Given the description of an element on the screen output the (x, y) to click on. 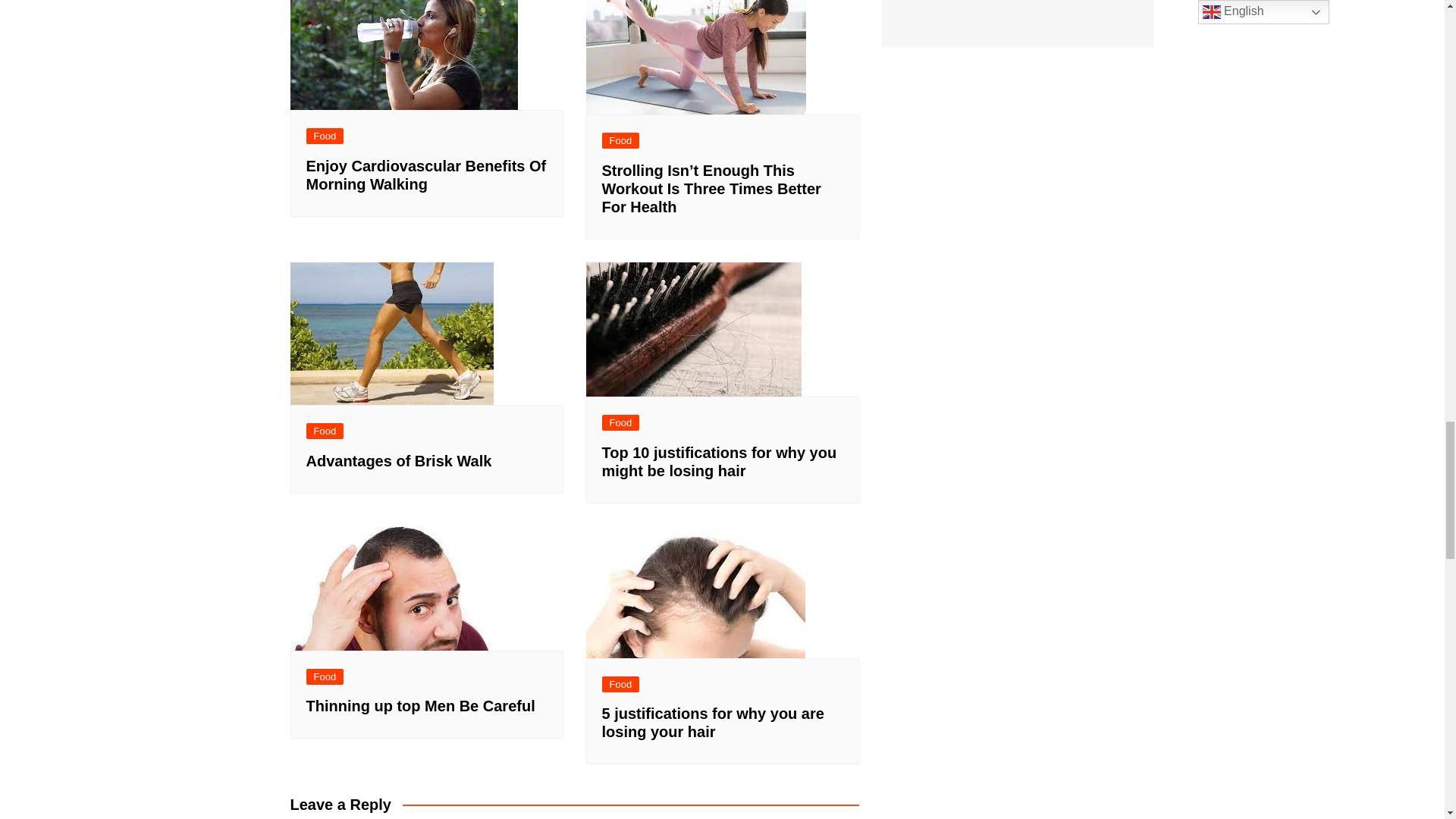
Top 10 justifications for why you might be losing hair (692, 329)
Enjoy Cardiovascular Benefits Of Morning Walking (402, 54)
5 justifications for why you are losing your hair (695, 592)
Thinning up top Men Be Careful (405, 588)
Advantages of Brisk Walk (391, 333)
